Given the description of an element on the screen output the (x, y) to click on. 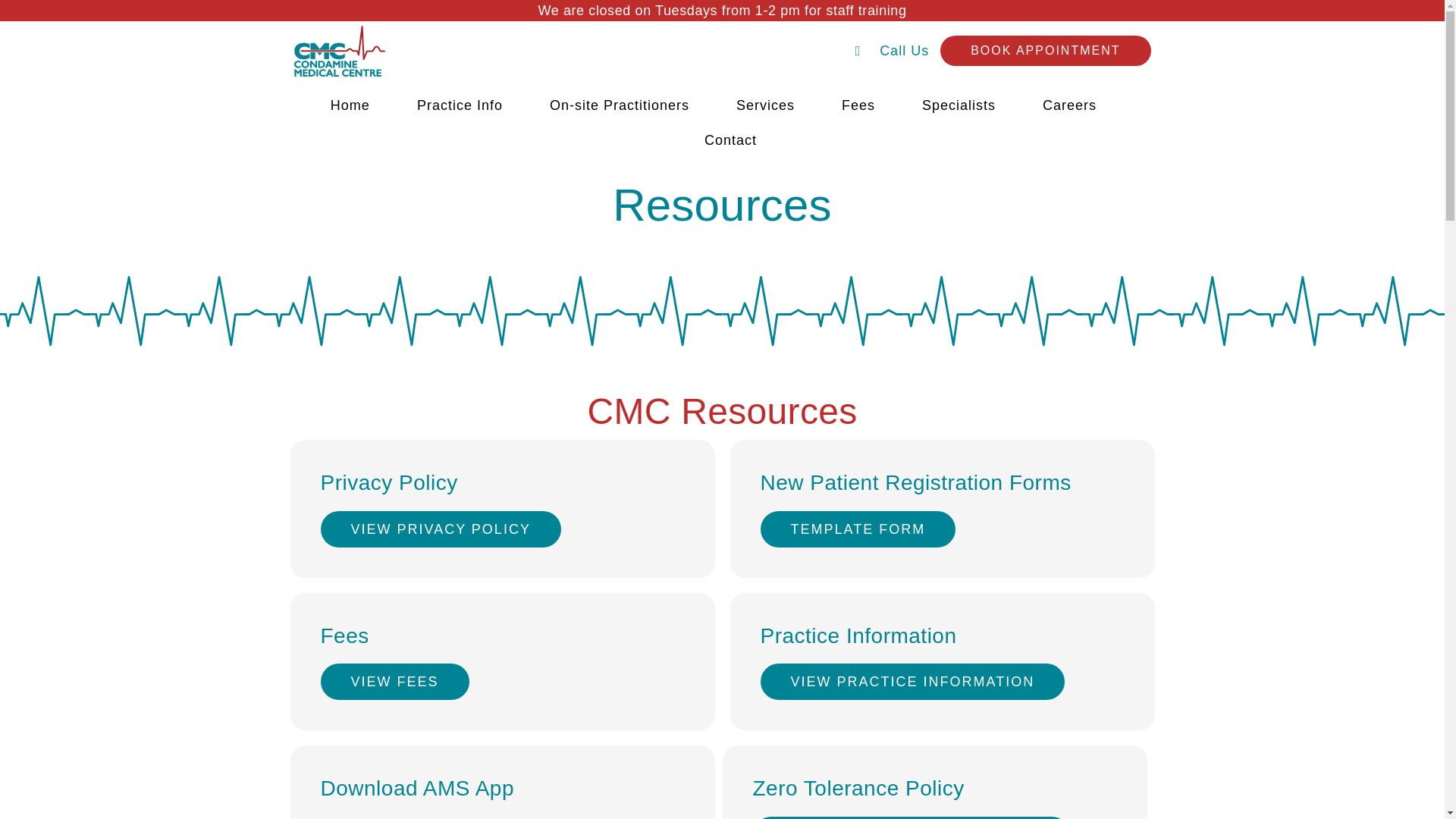
Practice Info (459, 104)
Specialists (958, 104)
Fees (857, 104)
VIEW FEES (394, 681)
Careers (1069, 104)
Home (349, 104)
TEMPLATE FORM (857, 529)
Contact (730, 140)
Call Us (893, 50)
VIEW PRACTICE INFORMATION (912, 681)
